Given the description of an element on the screen output the (x, y) to click on. 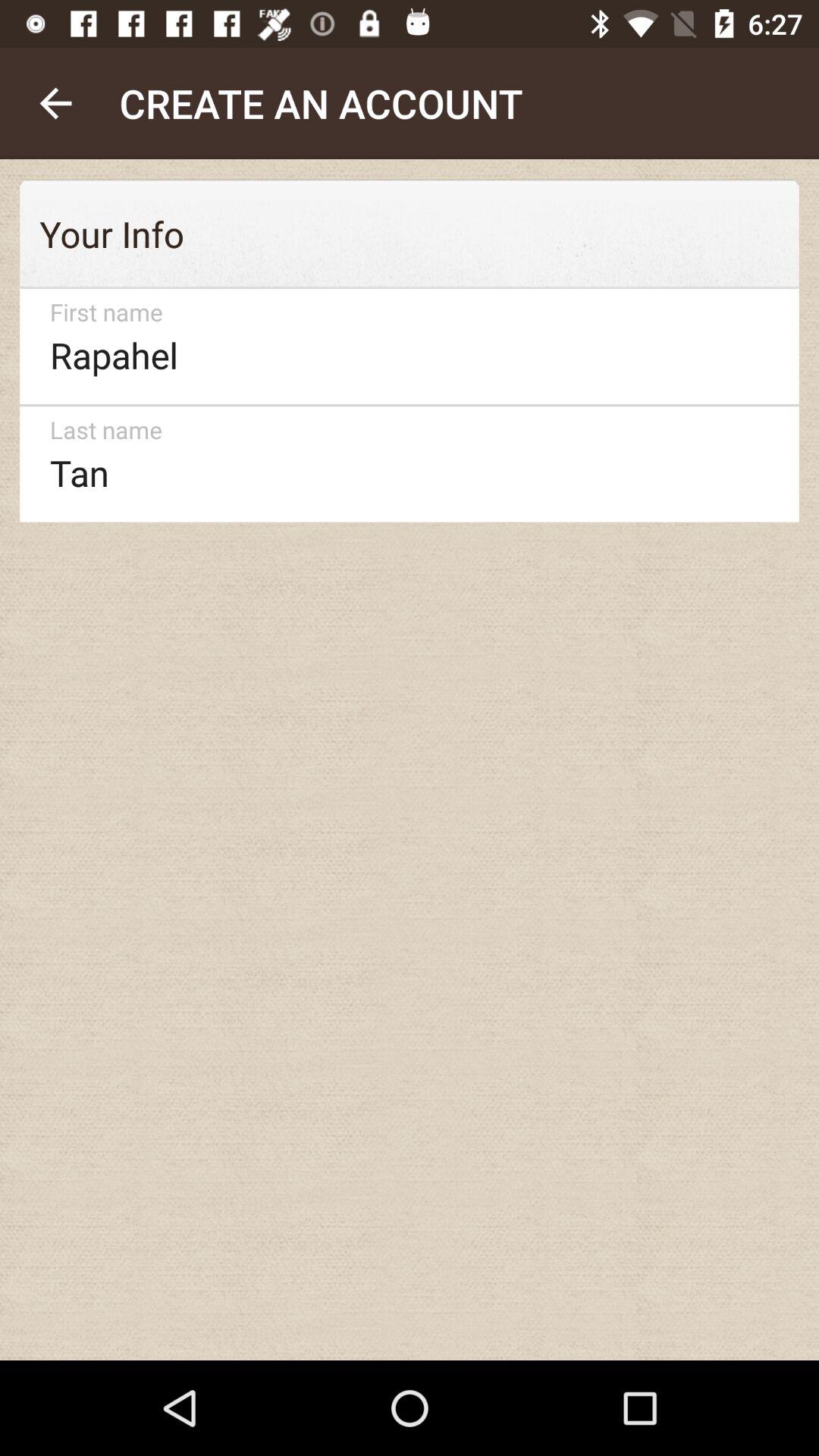
choose item below your info item (402, 346)
